Given the description of an element on the screen output the (x, y) to click on. 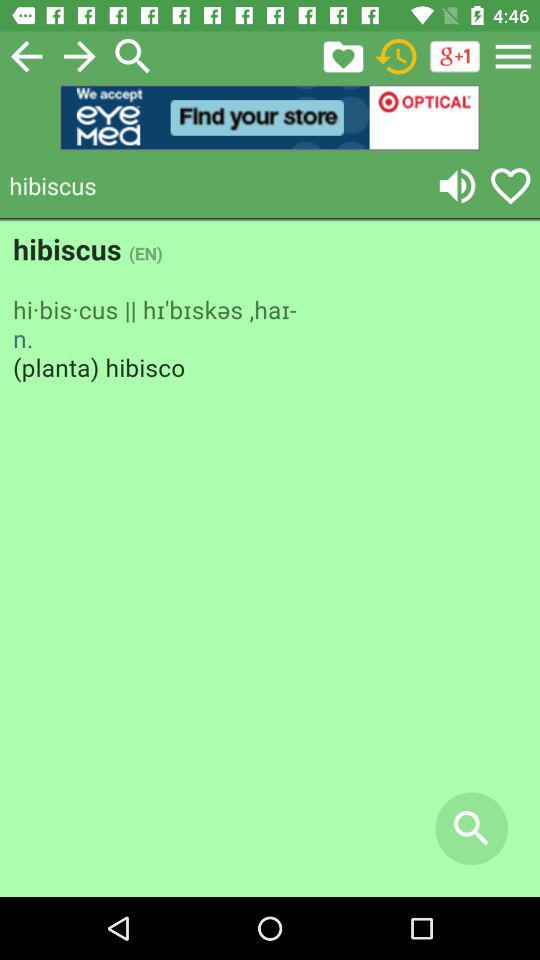
speaker button (457, 185)
